Given the description of an element on the screen output the (x, y) to click on. 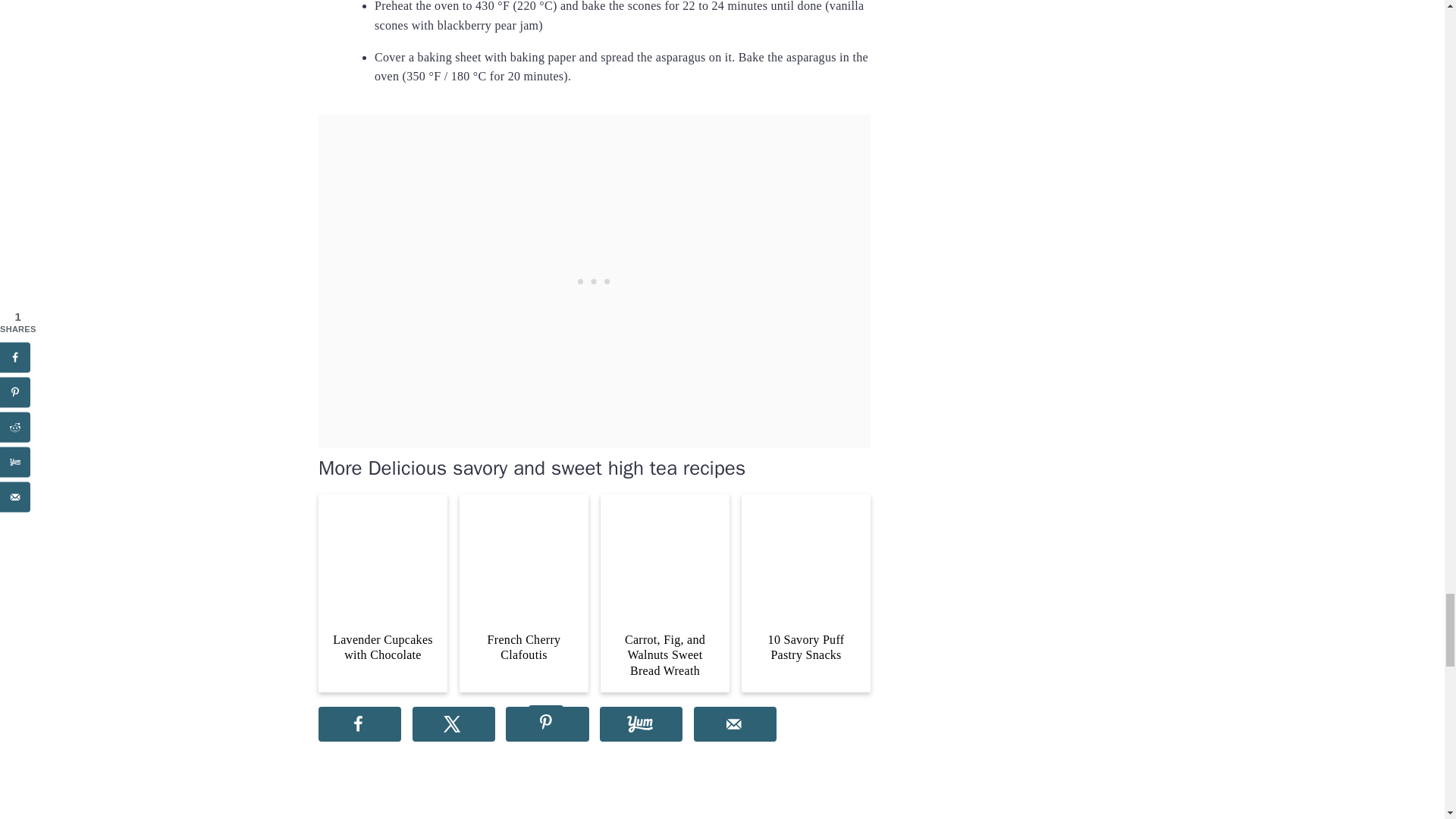
Save to Pinterest (546, 724)
Share on Facebook (359, 724)
Share on X (453, 724)
Send over email (735, 724)
Share on Yummly (640, 724)
